Given the description of an element on the screen output the (x, y) to click on. 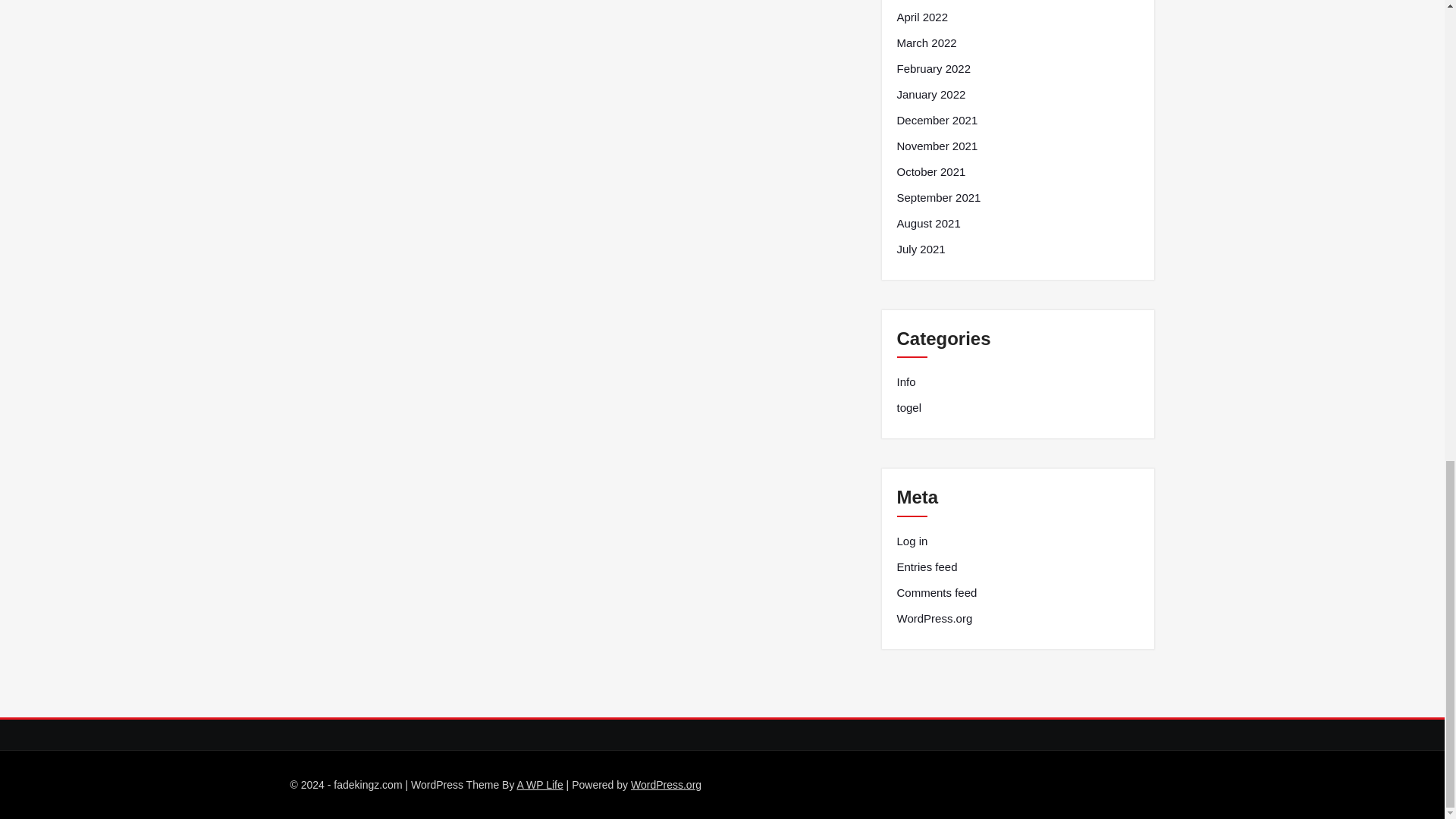
May 2022 (921, 0)
April 2022 (921, 17)
